Given the description of an element on the screen output the (x, y) to click on. 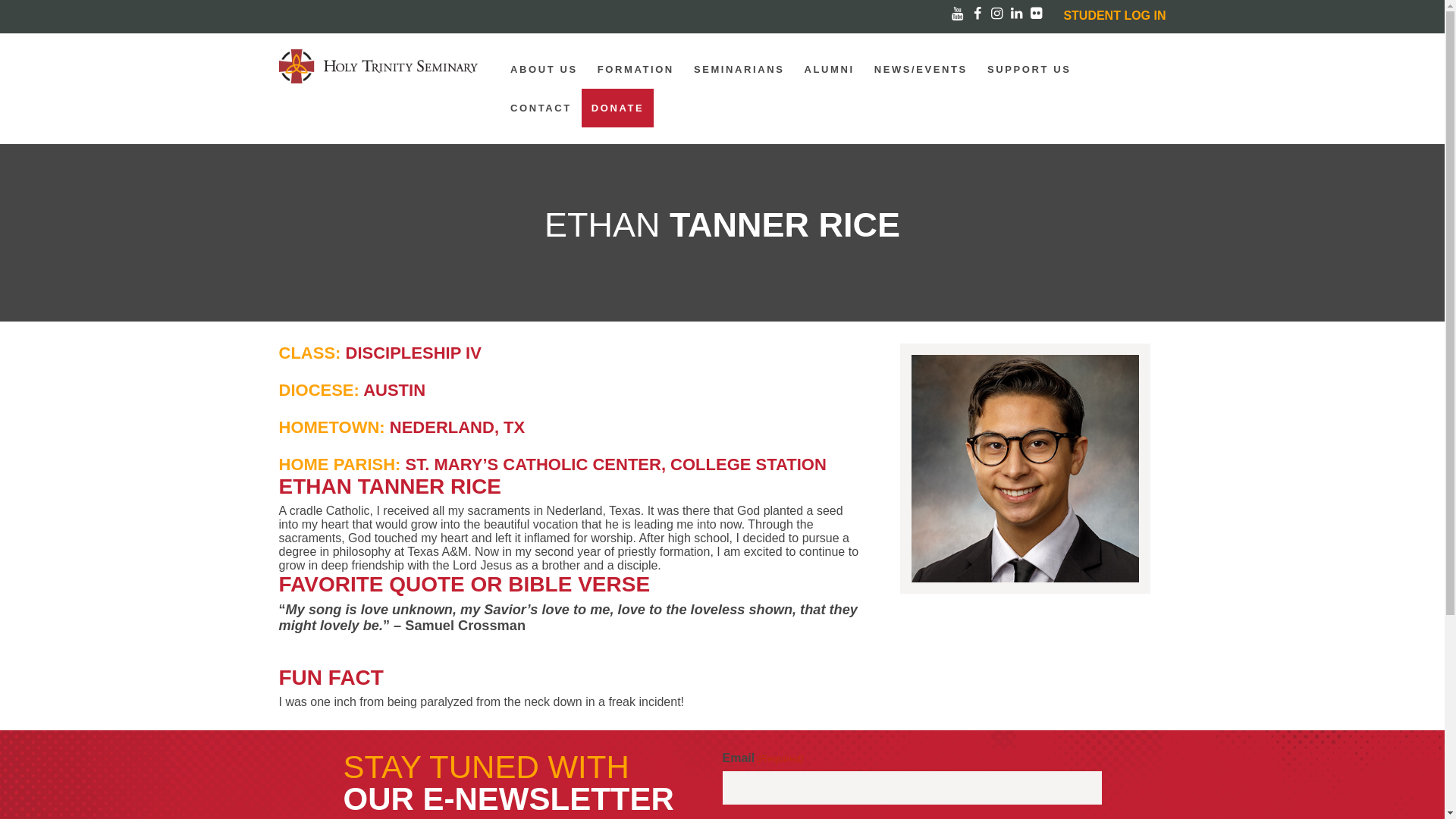
FORMATION (636, 68)
ABOUT US (544, 68)
SEMINARIANS (739, 68)
STUDENT LOG IN (1114, 15)
ALUMNI (829, 68)
